Given the description of an element on the screen output the (x, y) to click on. 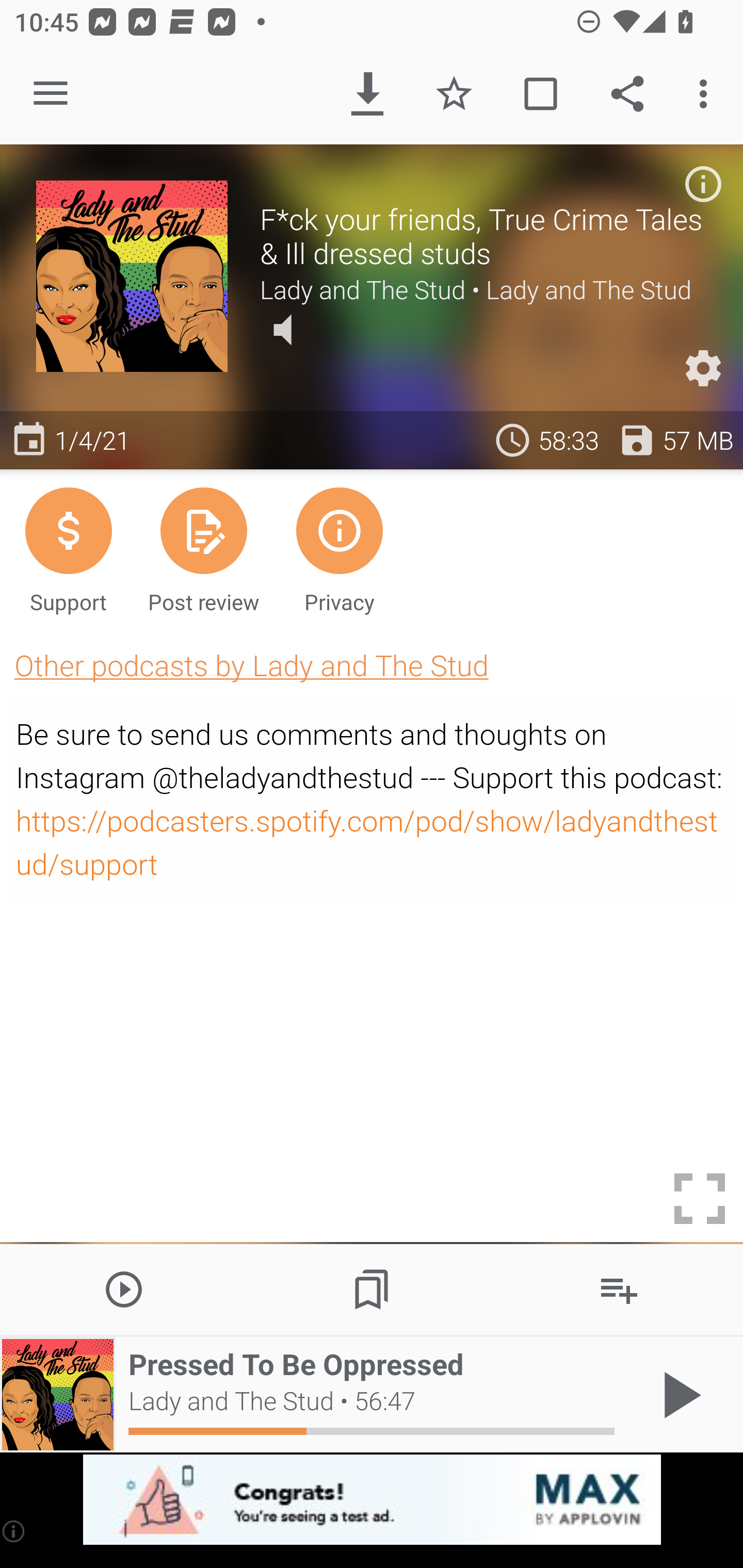
Open navigation sidebar (50, 93)
Download (366, 93)
Favorite (453, 93)
Mark played / unplayed (540, 93)
Share (626, 93)
More options (706, 93)
Podcast description (703, 184)
Custom Settings (703, 368)
Support (68, 549)
Post review (203, 549)
Privacy (339, 549)
Other podcasts by Lady and The Stud (251, 665)
Toggle full screen mode (699, 1198)
Play (123, 1288)
Chapters / Bookmarks (371, 1288)
Add to Playlist (619, 1288)
Play / Pause (677, 1394)
app-monetization (371, 1500)
(i) (14, 1531)
